Given the description of an element on the screen output the (x, y) to click on. 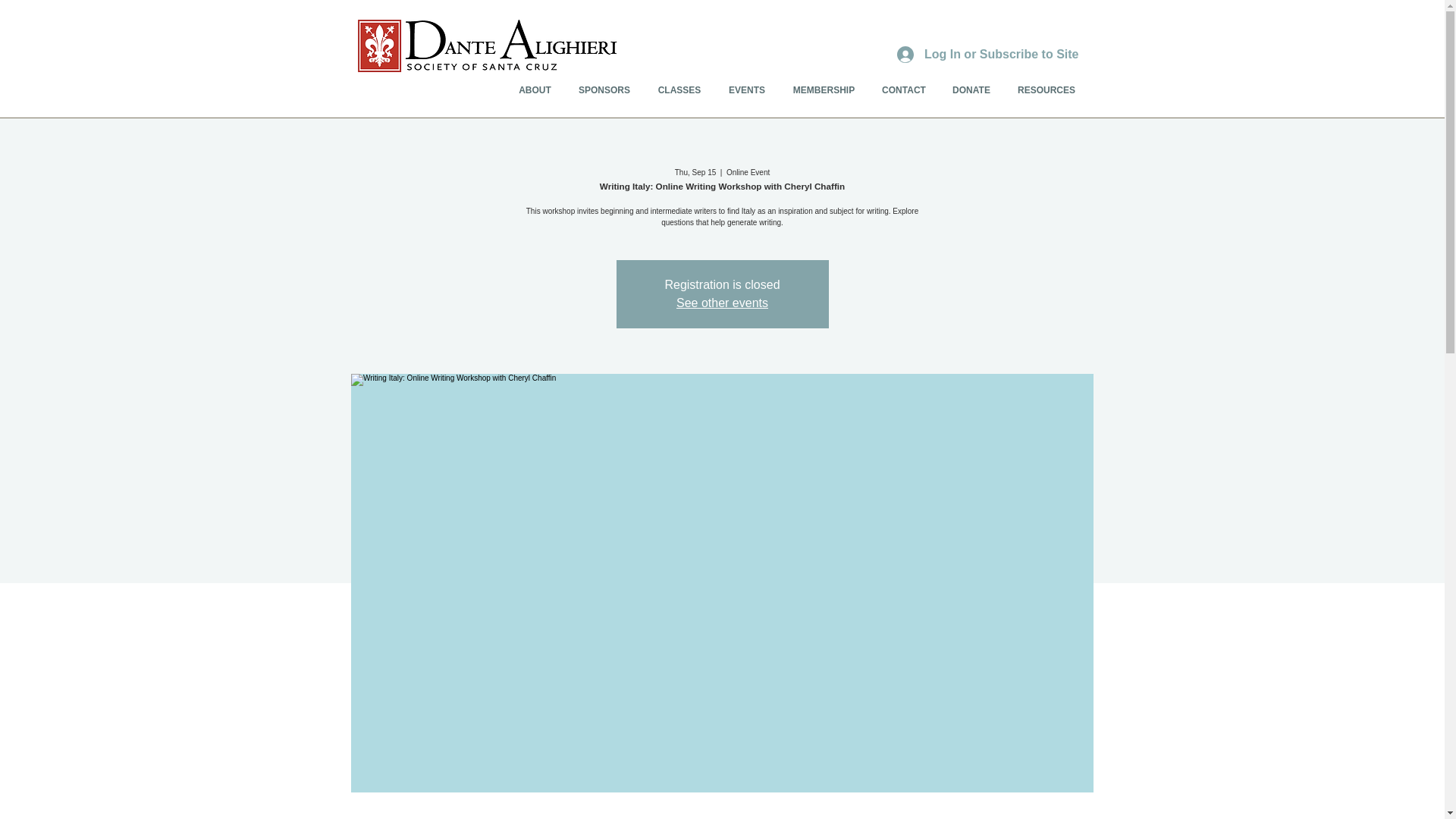
SPONSORS (603, 90)
DONATE (971, 90)
logo1.jpg (486, 45)
Log In or Subscribe to Site (987, 54)
EVENTS (746, 90)
See other events (722, 302)
RESOURCES (1046, 90)
ABOUT (534, 90)
CONTACT (904, 90)
CLASSES (679, 90)
